Given the description of an element on the screen output the (x, y) to click on. 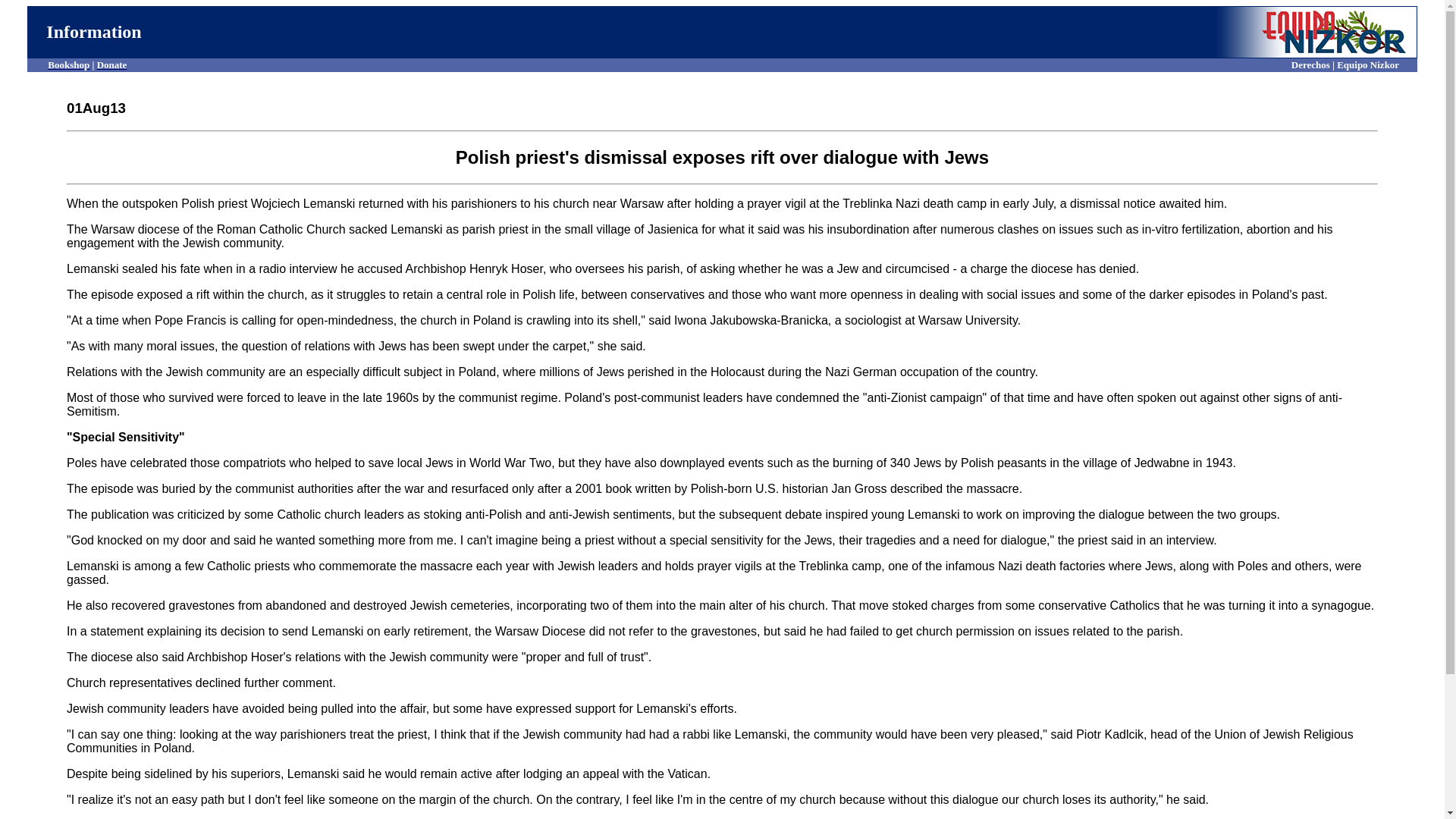
Donate (112, 64)
Bookshop (68, 64)
